Given the description of an element on the screen output the (x, y) to click on. 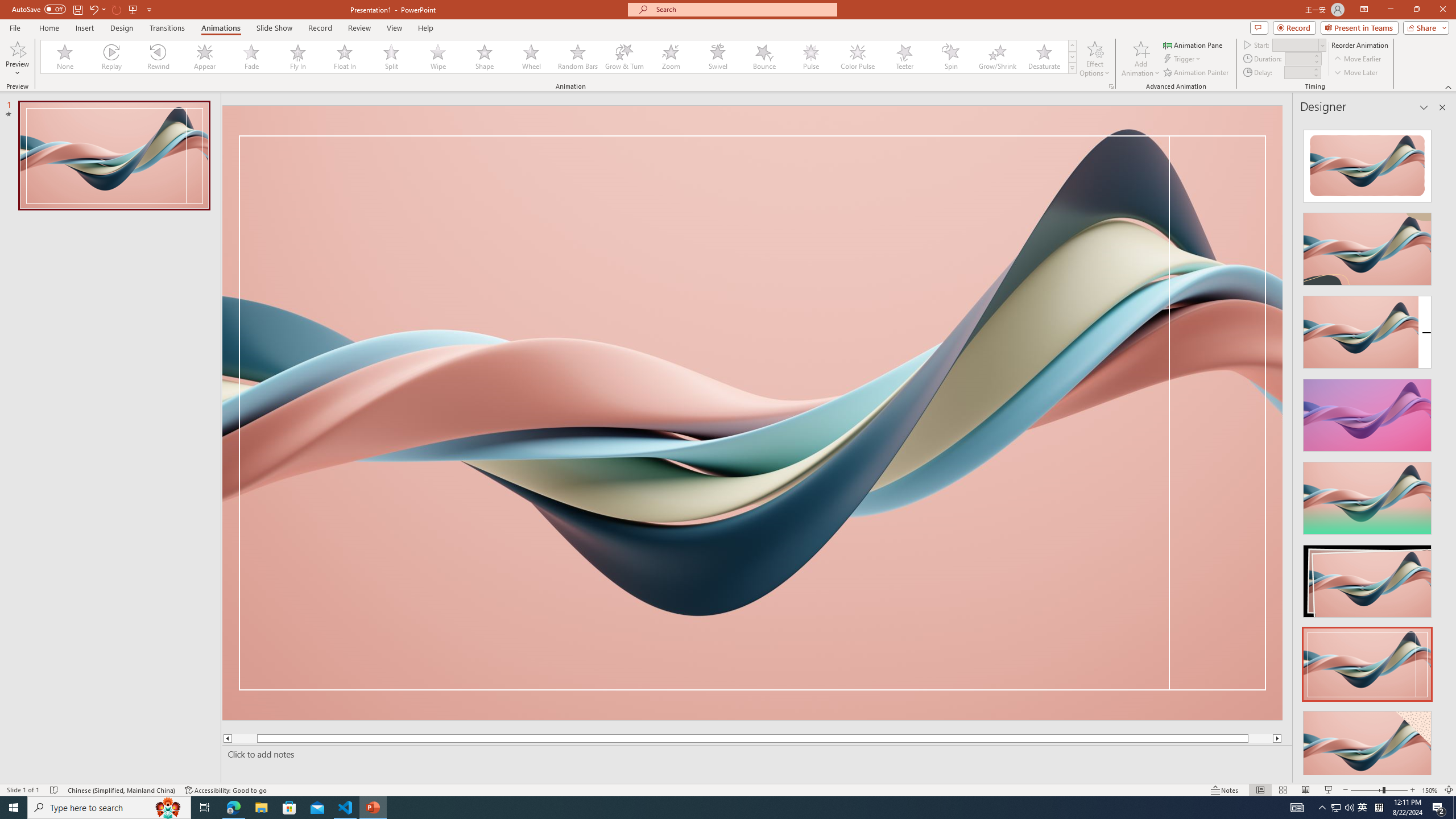
Wavy 3D art (752, 412)
Accessibility Checker Accessibility: Good to go (226, 790)
Zoom 150% (1430, 790)
Random Bars (577, 56)
Float In (344, 56)
Animation Painter (1196, 72)
Class: NetUIScrollBar (1441, 447)
